Given the description of an element on the screen output the (x, y) to click on. 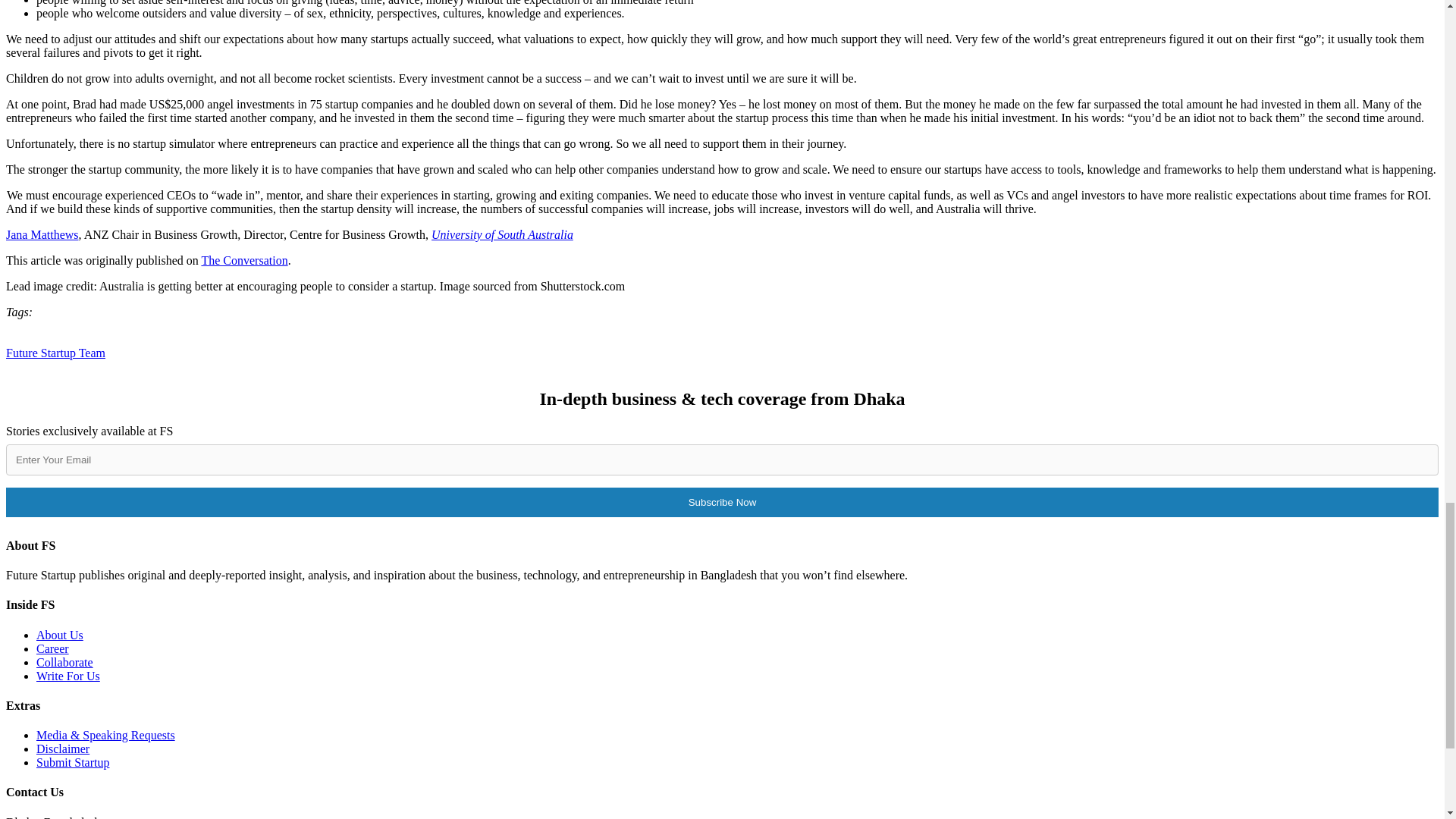
Jana Matthews (41, 234)
Future Startup Team (54, 352)
About Us (59, 634)
Write For Us (68, 675)
The Conversation (243, 259)
University of South Australia (501, 234)
Career (52, 648)
Collaborate (64, 662)
Disclaimer (62, 748)
